Given the description of an element on the screen output the (x, y) to click on. 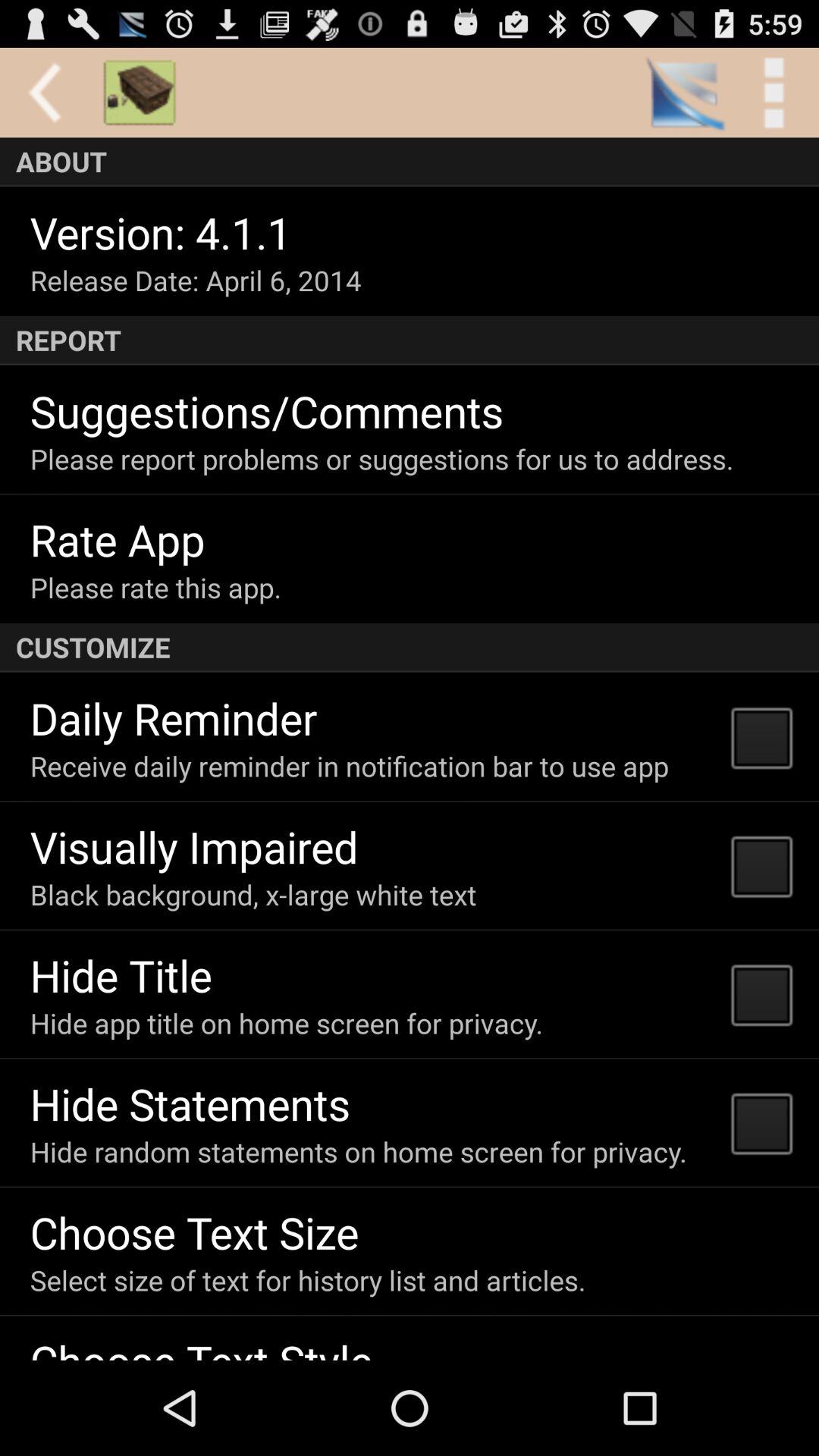
choose app below the visually impaired (253, 894)
